Given the description of an element on the screen output the (x, y) to click on. 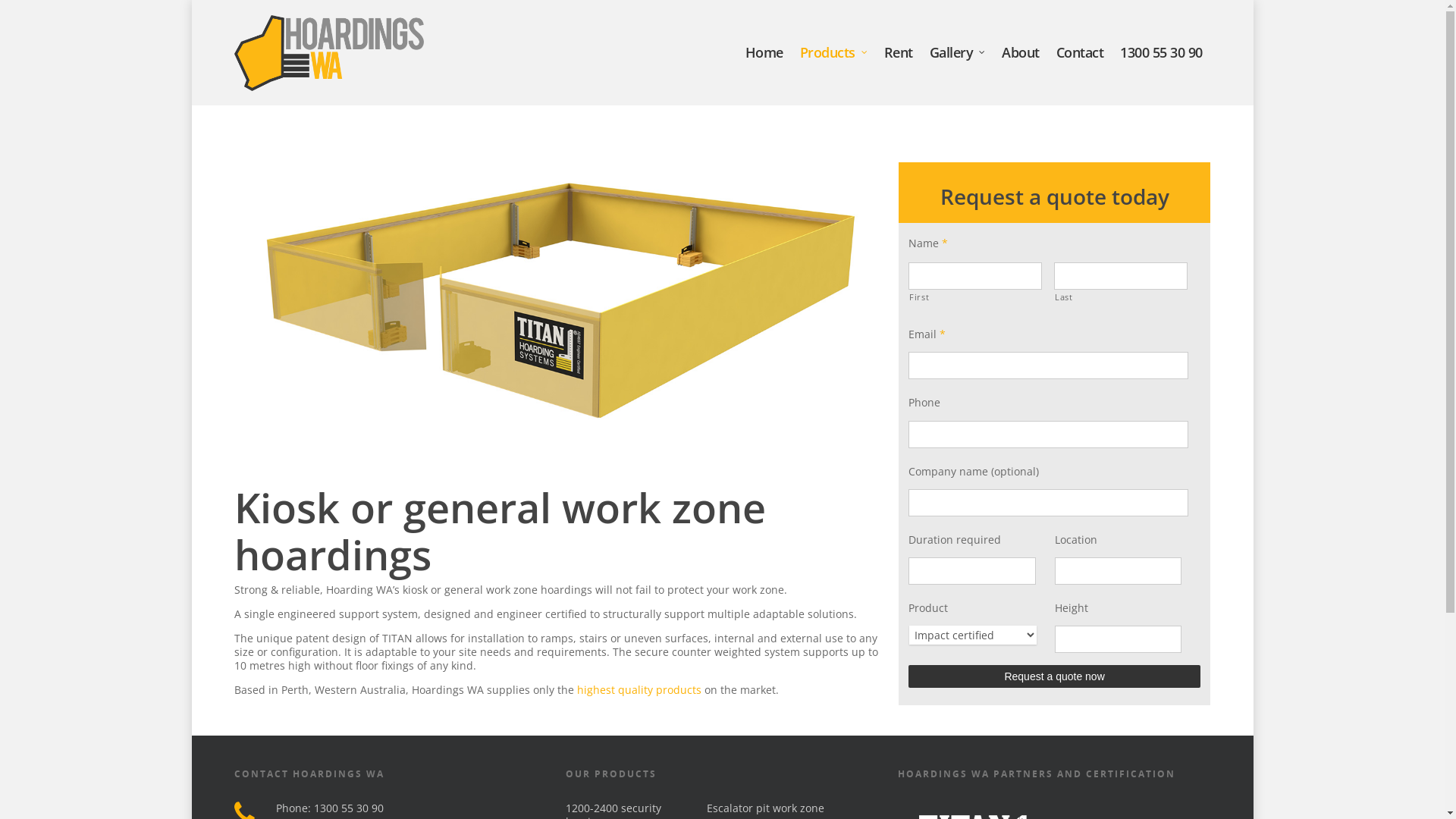
1300 55 30 90 Element type: text (1161, 60)
Request a quote now Element type: text (1054, 676)
Gallery Element type: text (957, 60)
highest quality products Element type: text (638, 689)
Escalator pit work zone Element type: text (765, 807)
Rent Element type: text (898, 60)
About Element type: text (1020, 60)
Products Element type: text (832, 60)
Contact Element type: text (1079, 60)
Home Element type: text (763, 60)
